Given the description of an element on the screen output the (x, y) to click on. 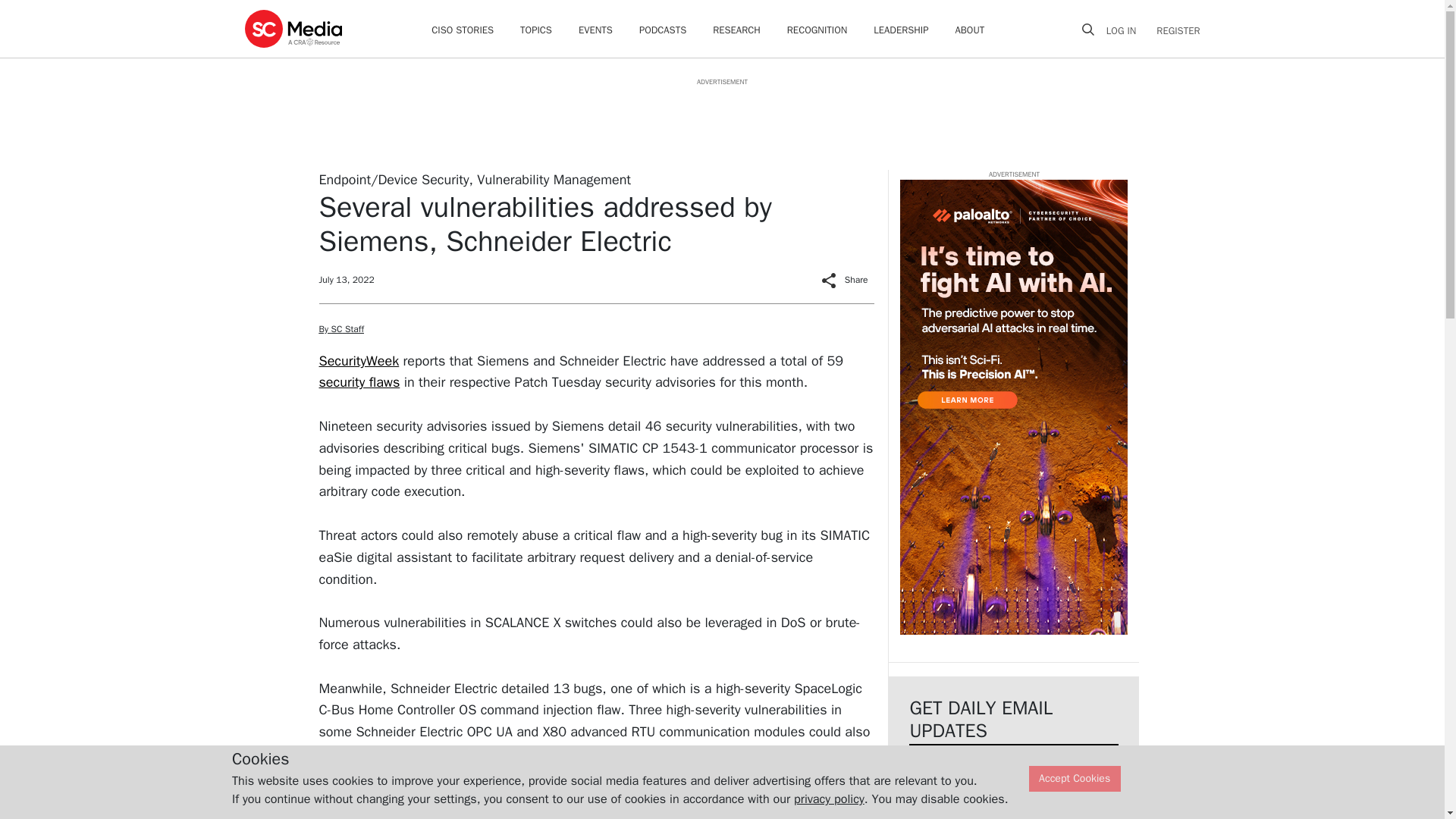
By SC Staff (340, 328)
LOG IN (1126, 30)
SC Staff (407, 806)
security flaws (358, 381)
3rd party ad content (1012, 406)
RESEARCH (736, 30)
3rd party ad content (721, 121)
REGISTER (1173, 30)
SecurityWeek (358, 360)
PODCASTS (662, 30)
SC Media (292, 27)
RECOGNITION (817, 30)
LEADERSHIP (900, 30)
EVENTS (595, 30)
TOPICS (535, 30)
